Given the description of an element on the screen output the (x, y) to click on. 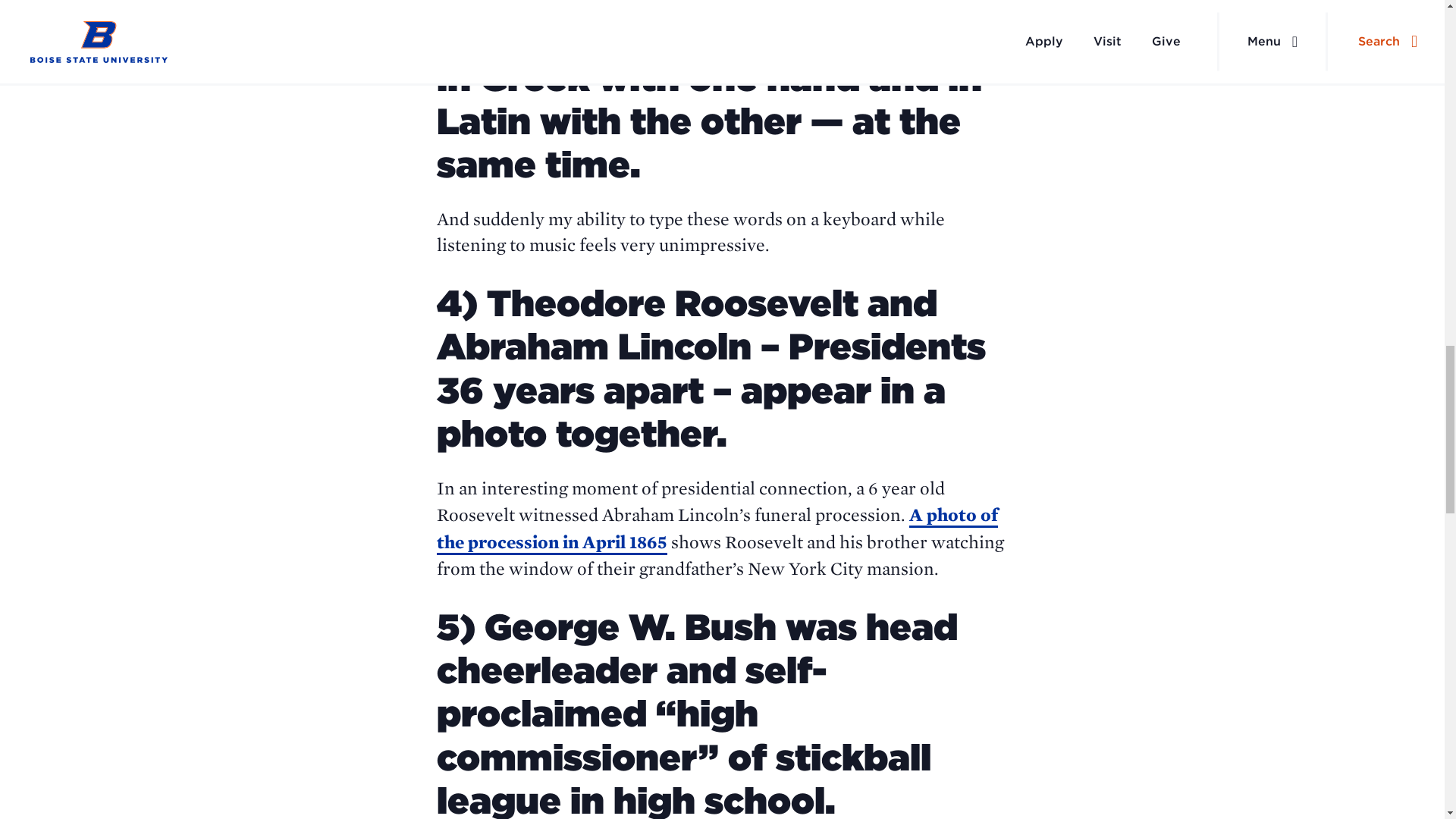
A photo of the procession in April 1865 (716, 529)
